Given the description of an element on the screen output the (x, y) to click on. 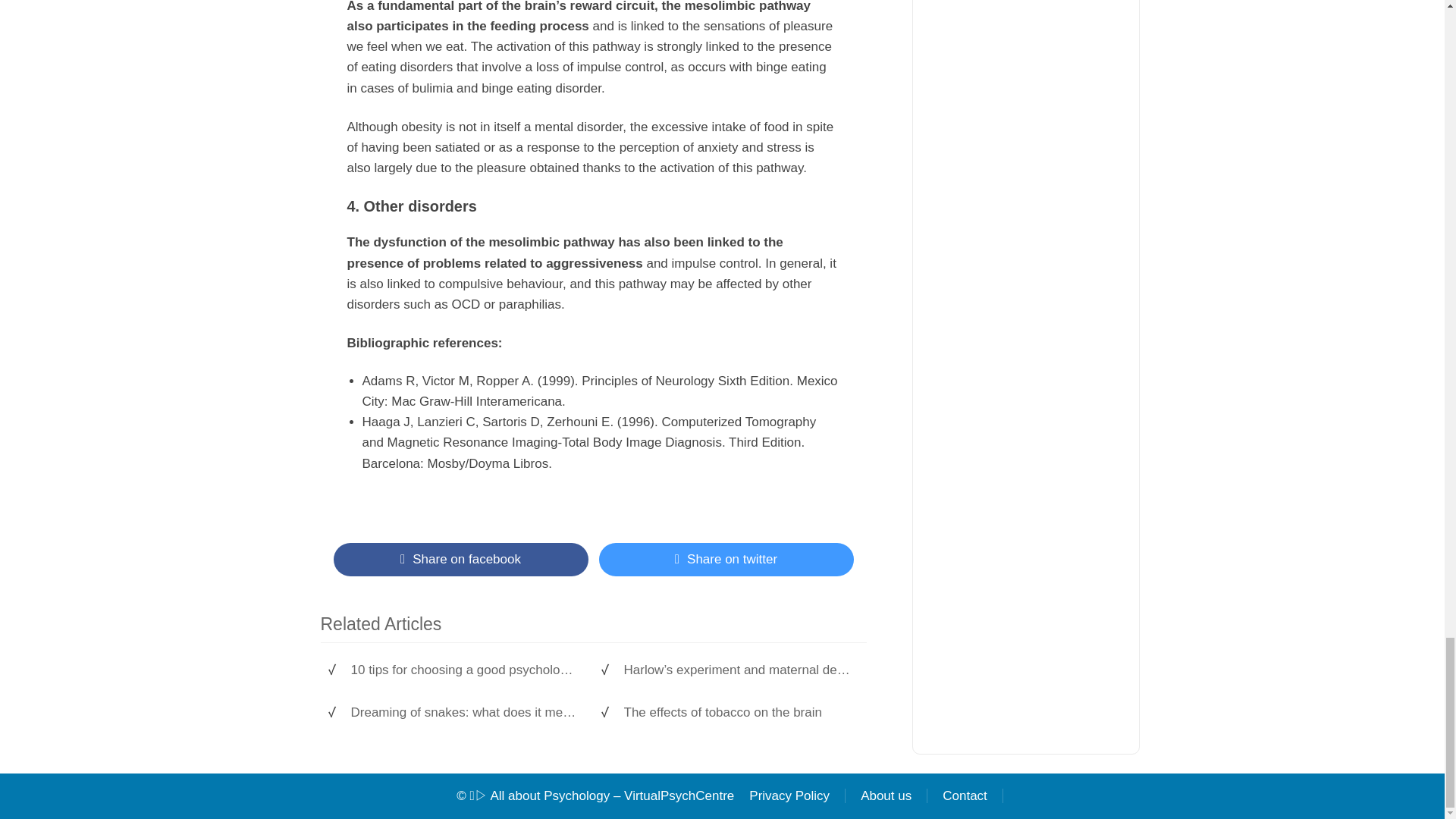
The effects of tobacco on the brain (736, 712)
Dreaming of snakes: what does it mean? (464, 712)
Privacy Policy (789, 795)
The effects of tobacco on the brain (736, 712)
10 tips for choosing a good psychologist (464, 670)
Dreaming of snakes: what does it mean? (464, 712)
10 tips for choosing a good psychologist (464, 670)
Share on facebook (460, 559)
About us (886, 795)
Contact (965, 795)
Share on Facebook (460, 559)
Share on twitter (725, 559)
